Given the description of an element on the screen output the (x, y) to click on. 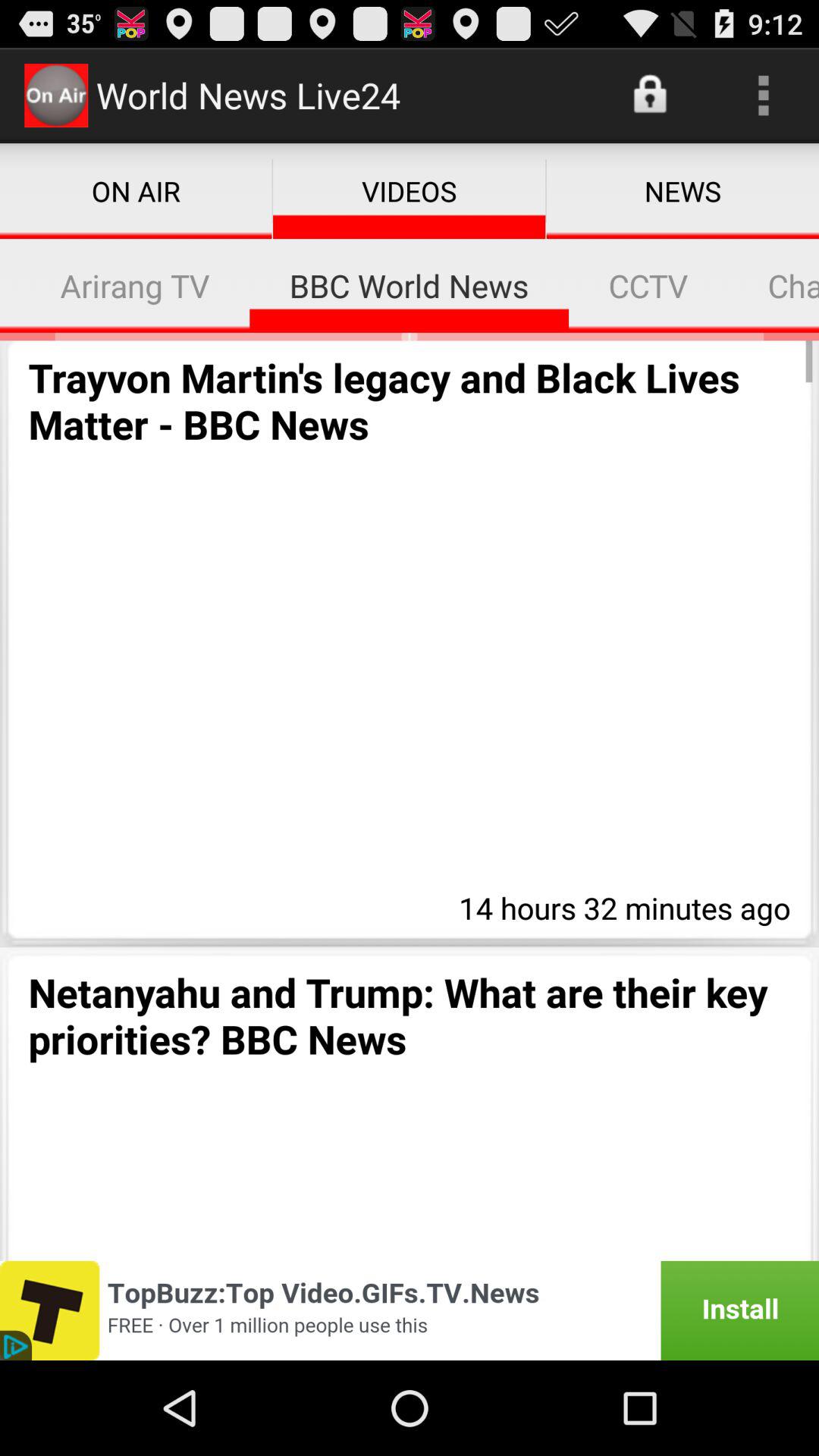
swipe until the      aljazeera english      item (10, 285)
